Given the description of an element on the screen output the (x, y) to click on. 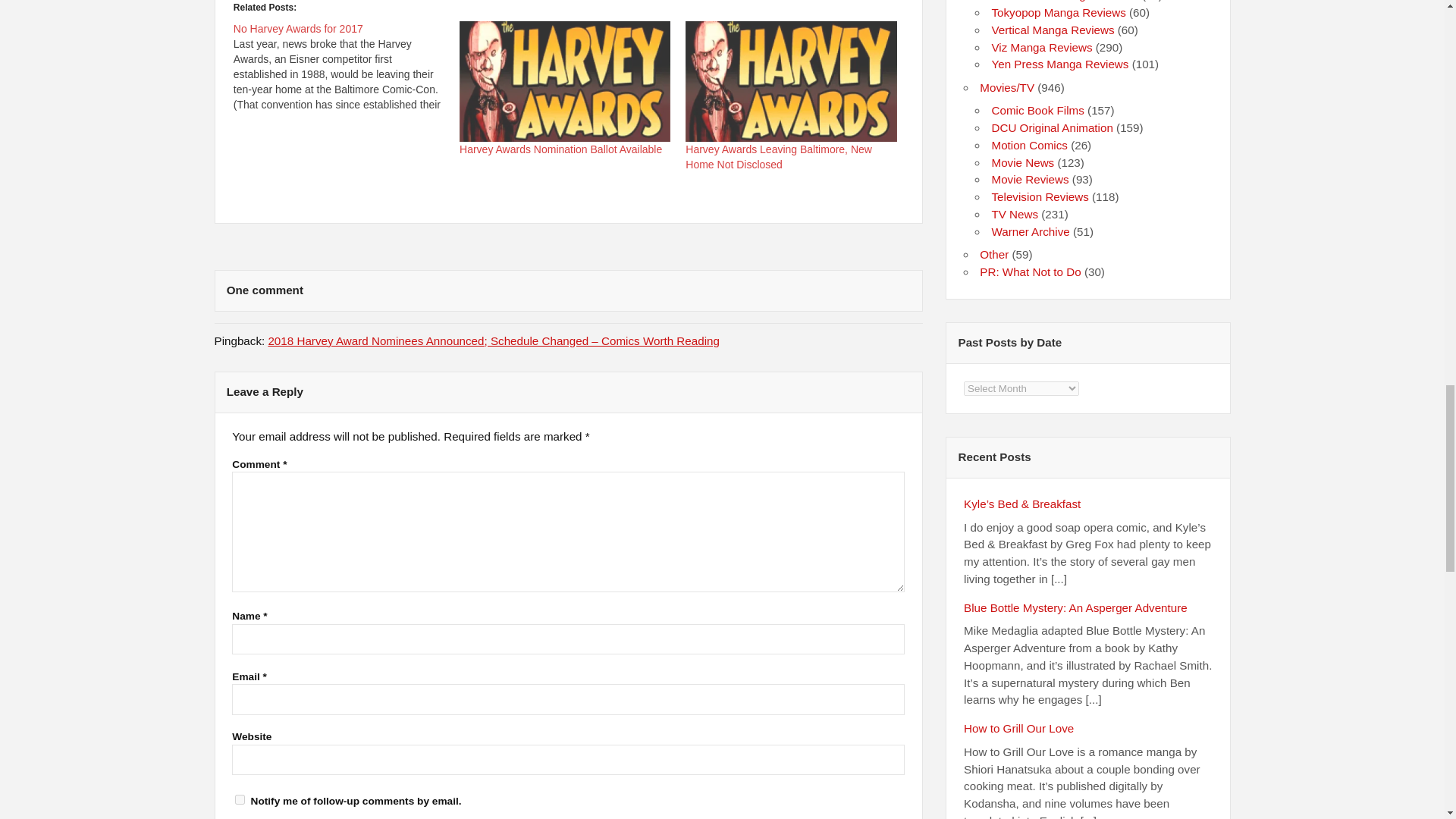
No Harvey Awards for 2017 (297, 28)
Harvey Awards Leaving Baltimore, New Home Not Disclosed (790, 81)
No Harvey Awards for 2017 (297, 28)
subscribe (239, 799)
Harvey Awards Nomination Ballot Available (561, 149)
No Harvey Awards for 2017 (346, 66)
Harvey Awards Leaving Baltimore, New Home Not Disclosed (778, 156)
Harvey Awards Nomination Ballot Available (561, 149)
Harvey Awards Nomination Ballot Available (564, 81)
